Given the description of an element on the screen output the (x, y) to click on. 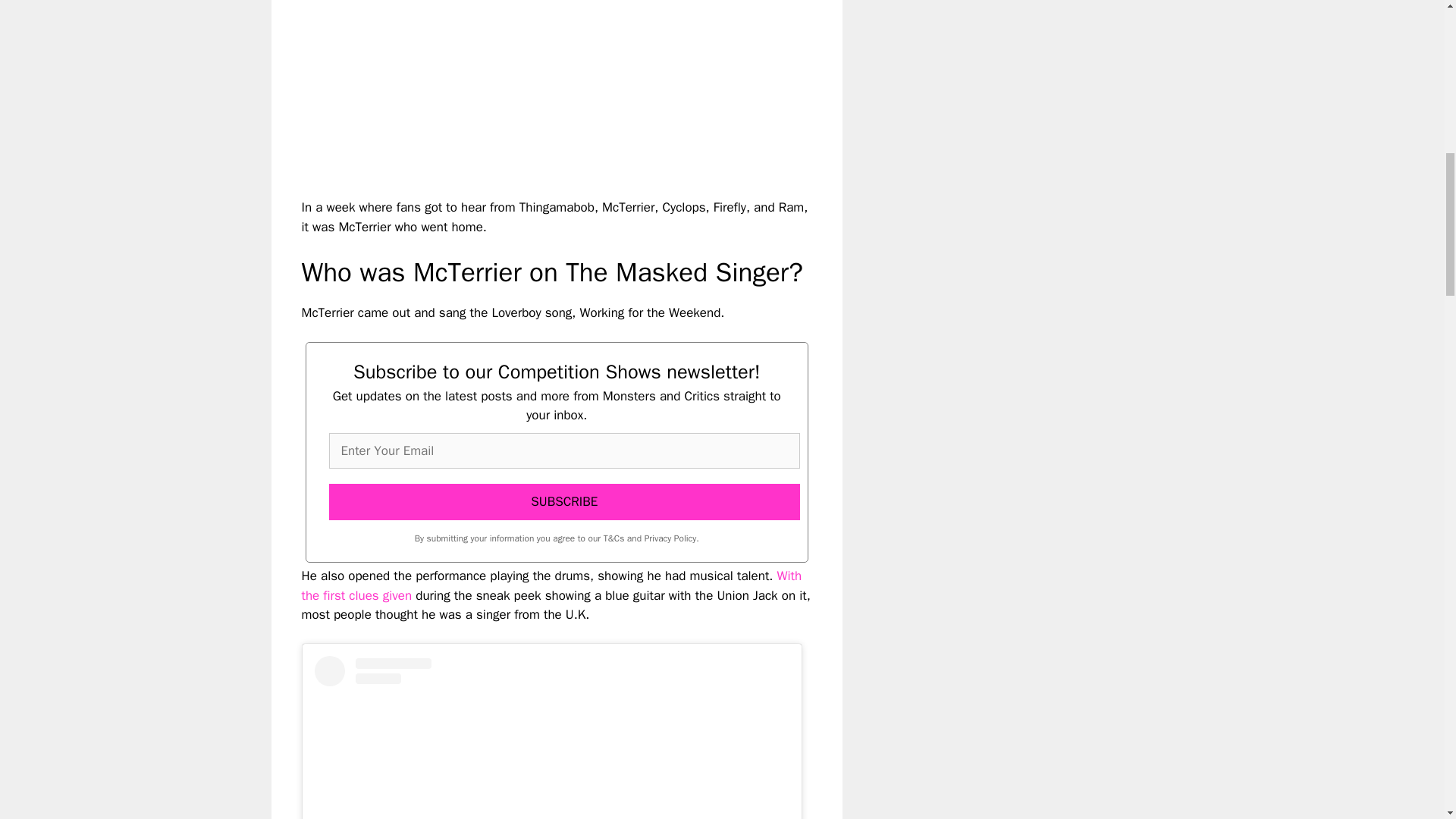
YouTube video player (513, 86)
SUBSCRIBE (564, 502)
With the first clues given (551, 585)
View this post on Instagram (551, 737)
SUBSCRIBE (564, 502)
